Given the description of an element on the screen output the (x, y) to click on. 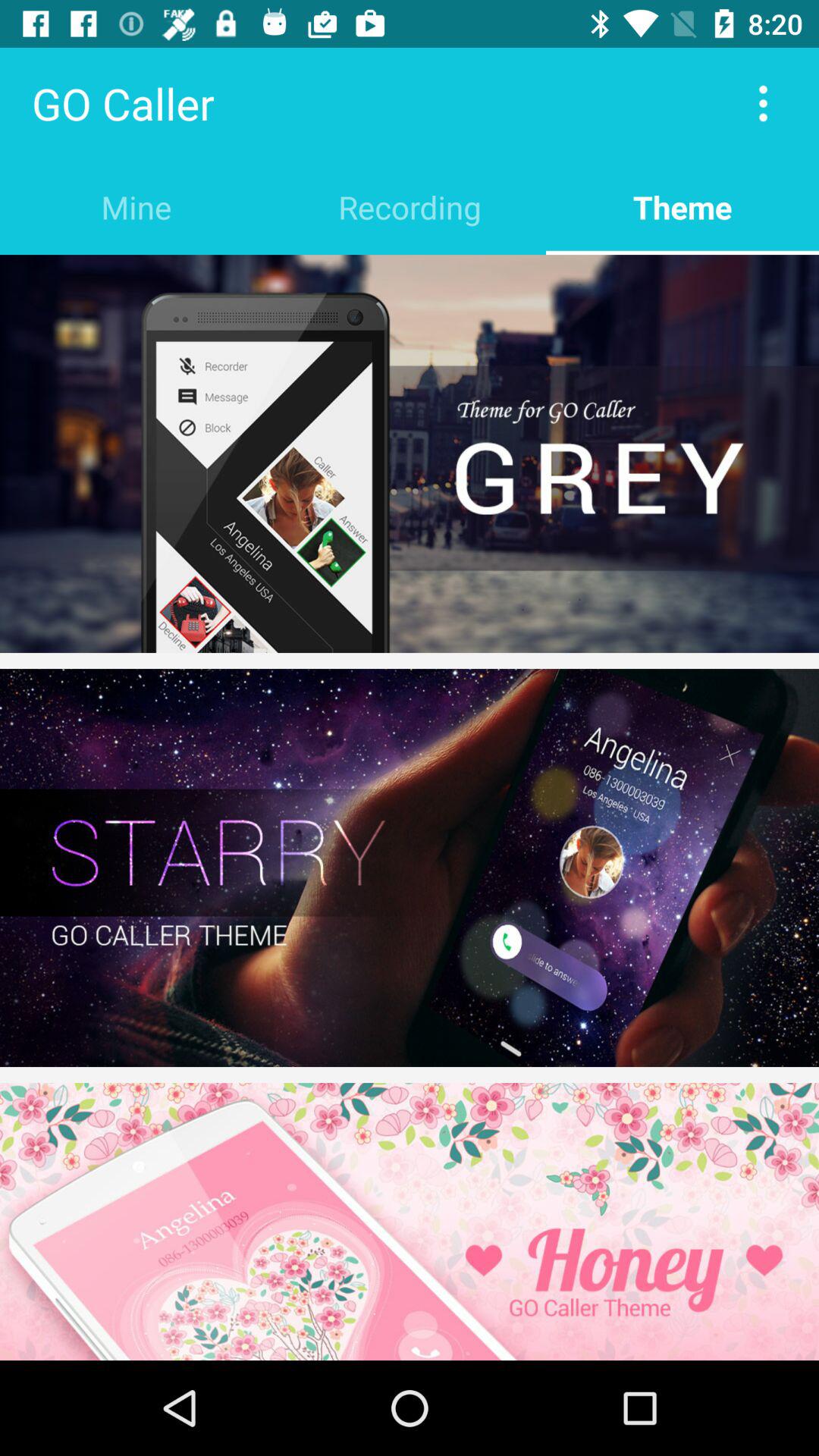
select themem (409, 867)
